Given the description of an element on the screen output the (x, y) to click on. 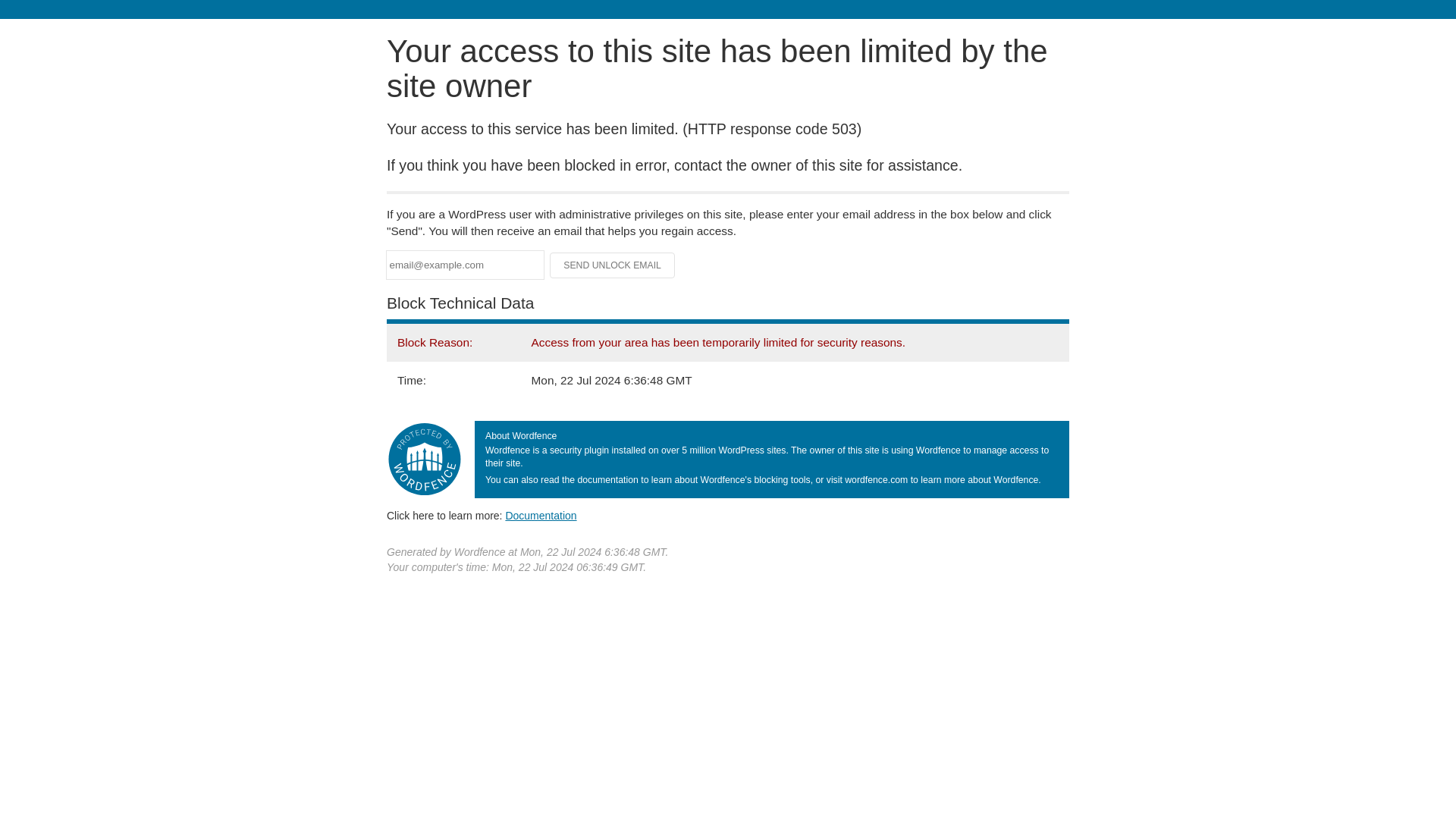
Documentation (540, 515)
Send Unlock Email (612, 265)
Send Unlock Email (612, 265)
